Given the description of an element on the screen output the (x, y) to click on. 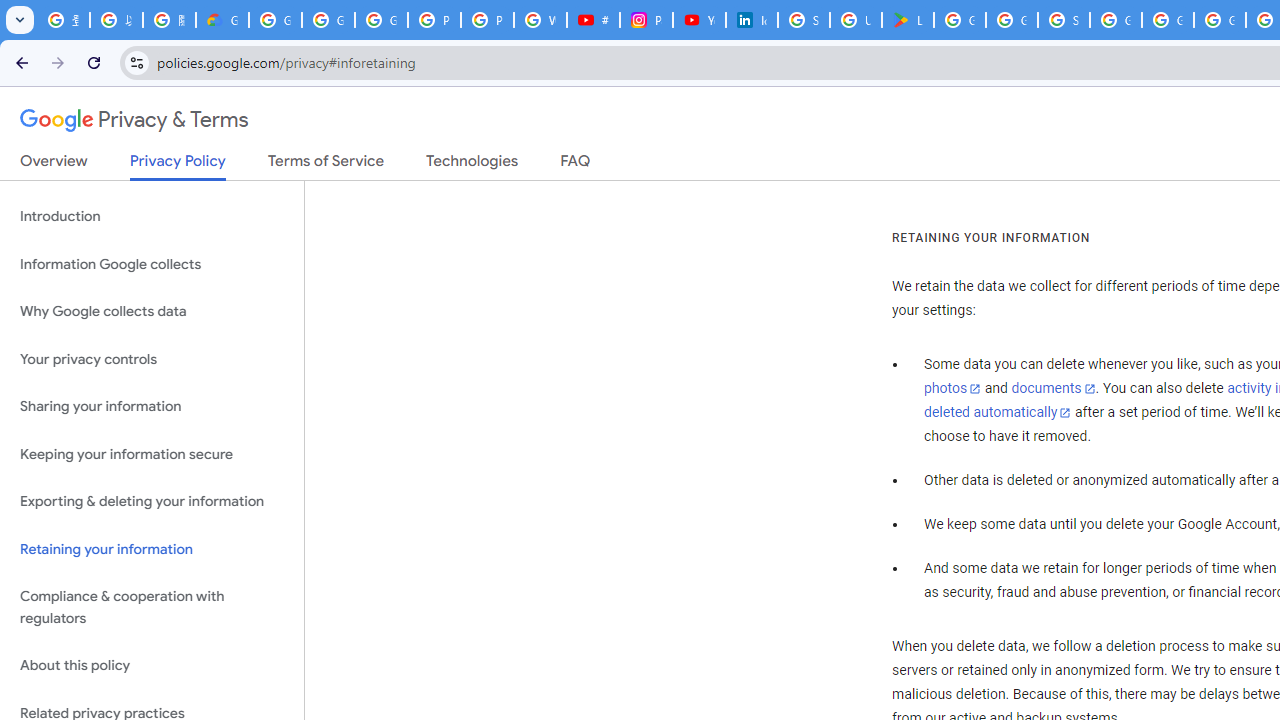
documents (1053, 389)
Overview (54, 165)
